Given the description of an element on the screen output the (x, y) to click on. 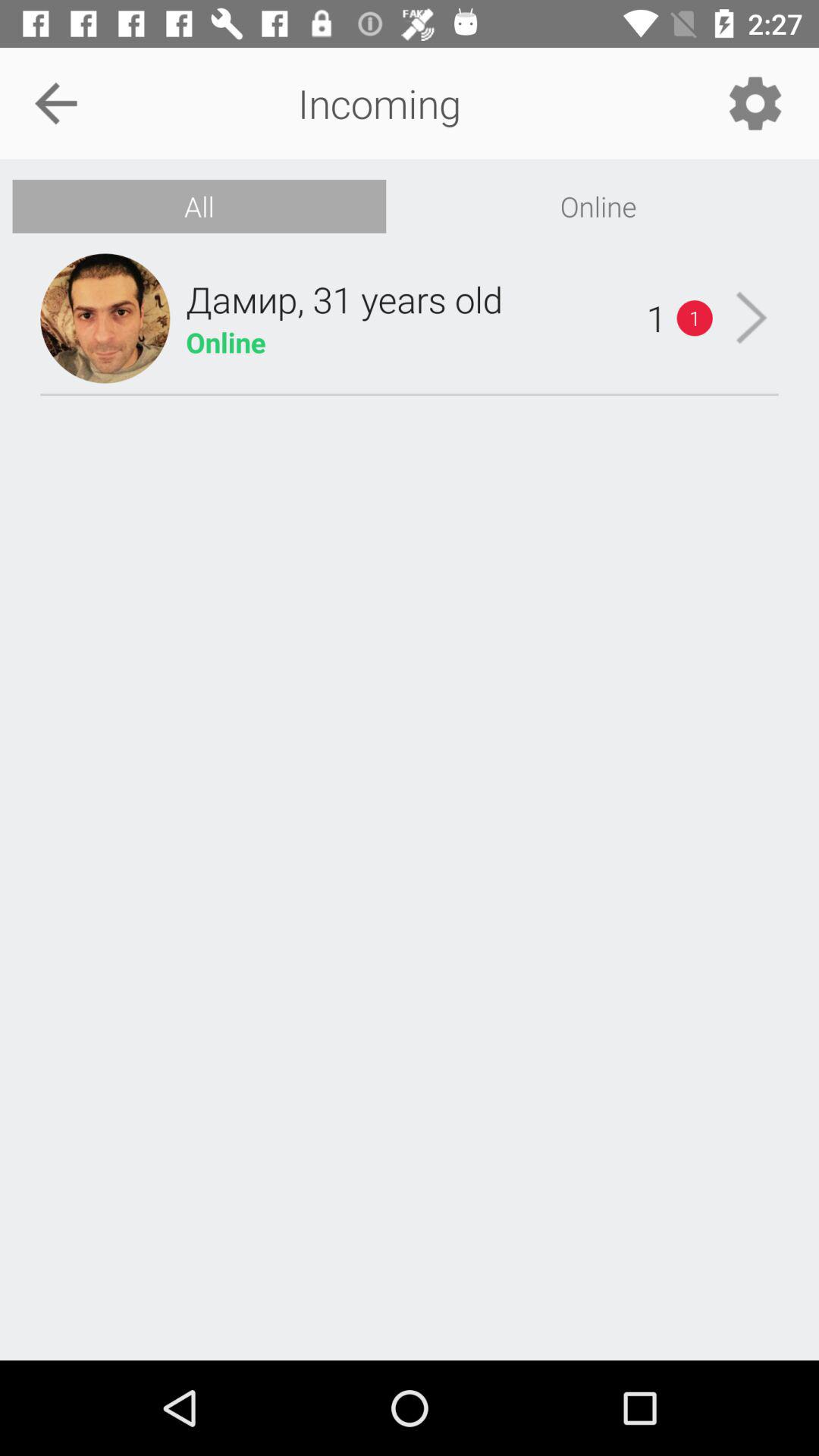
launch the icon below all item (343, 299)
